Given the description of an element on the screen output the (x, y) to click on. 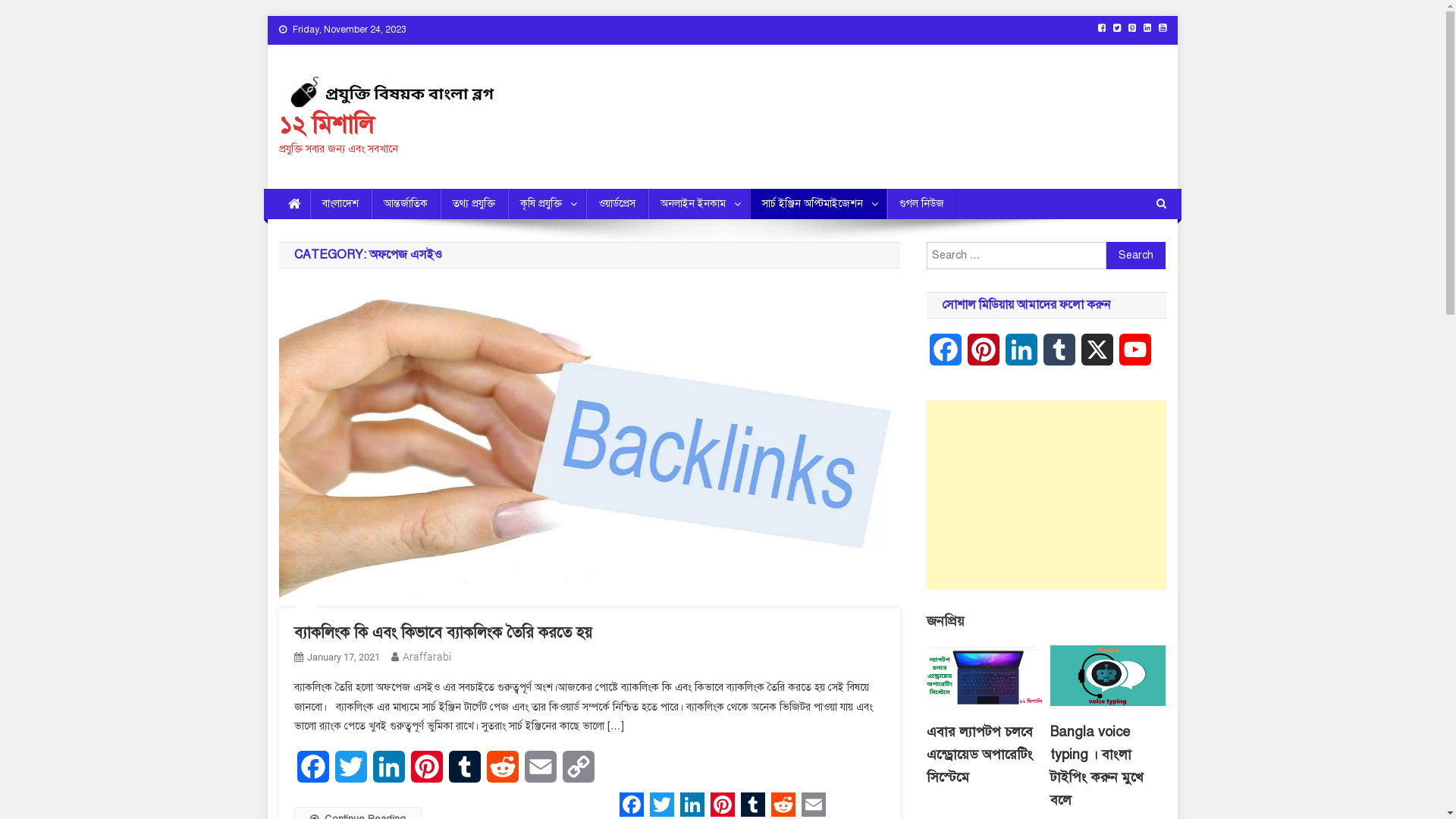
Tumblr Element type: text (464, 772)
X Element type: text (1097, 355)
Copy Link Element type: text (578, 772)
LinkedIn Element type: text (691, 804)
Tumblr Element type: text (1059, 355)
Tumblr Element type: text (752, 804)
Search Element type: text (1136, 255)
Twitter Element type: text (661, 804)
Search Element type: text (1133, 254)
LinkedIn Element type: text (1021, 355)
Email Element type: text (812, 804)
LinkedIn Element type: text (388, 772)
Advertisement Element type: hover (1046, 494)
Reddit Element type: text (502, 772)
Facebook Element type: text (945, 355)
Araffarabi Element type: text (425, 656)
Facebook Element type: text (313, 772)
Twitter Element type: text (351, 772)
Facebook Element type: text (630, 804)
Skip to content Element type: text (266, 15)
January 17, 2021 Element type: text (342, 656)
Email Element type: text (540, 772)
Pinterest Element type: text (721, 804)
Reddit Element type: text (782, 804)
Pinterest Element type: text (426, 772)
YouTube Channel Element type: text (1135, 355)
Pinterest Element type: text (983, 355)
